Given the description of an element on the screen output the (x, y) to click on. 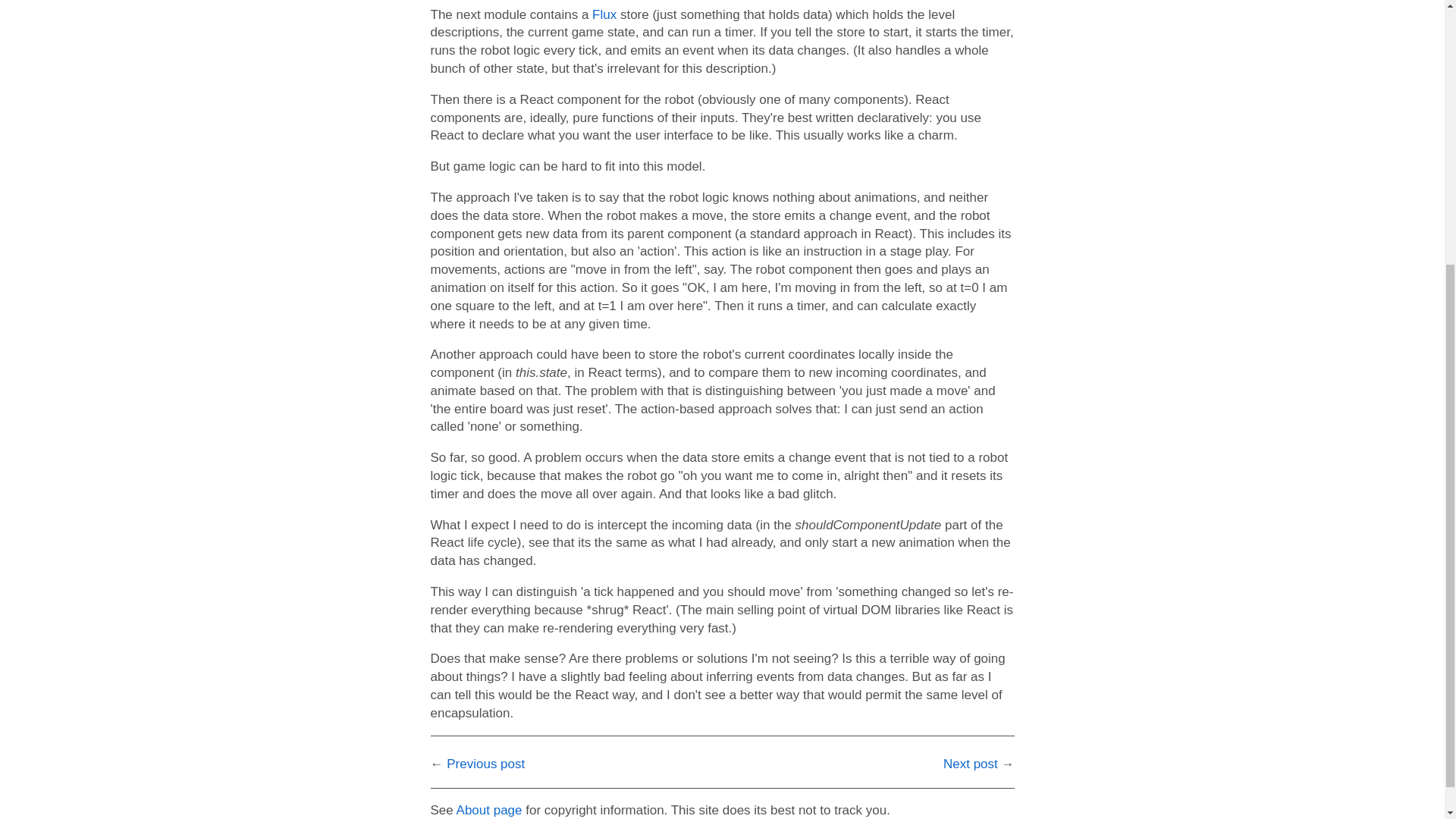
About page (489, 810)
Previous post (485, 763)
Next post (970, 763)
Flux (603, 14)
Some game-designer-y thoughts on Bound (970, 763)
